Given the description of an element on the screen output the (x, y) to click on. 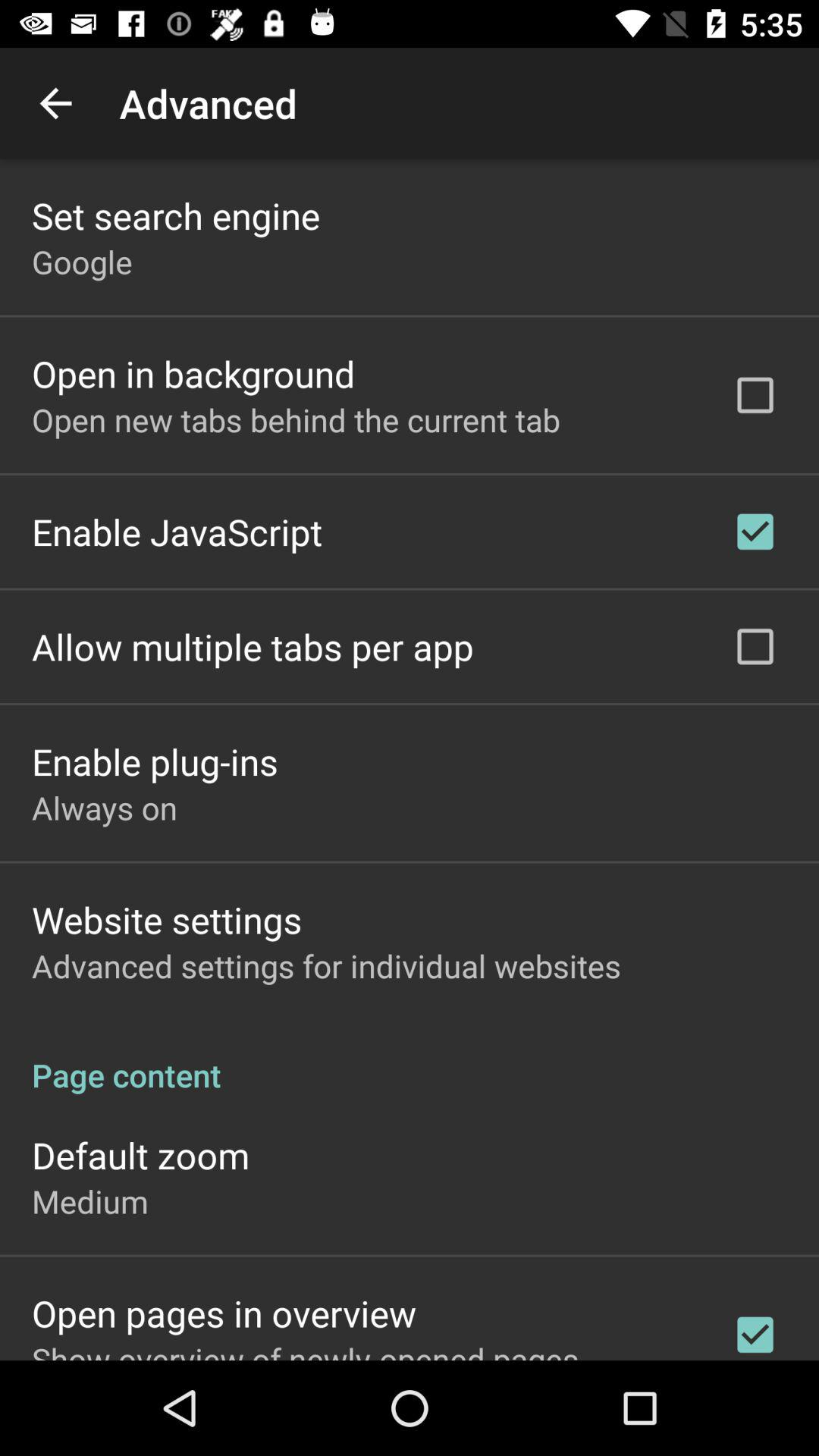
choose the google icon (81, 261)
